Given the description of an element on the screen output the (x, y) to click on. 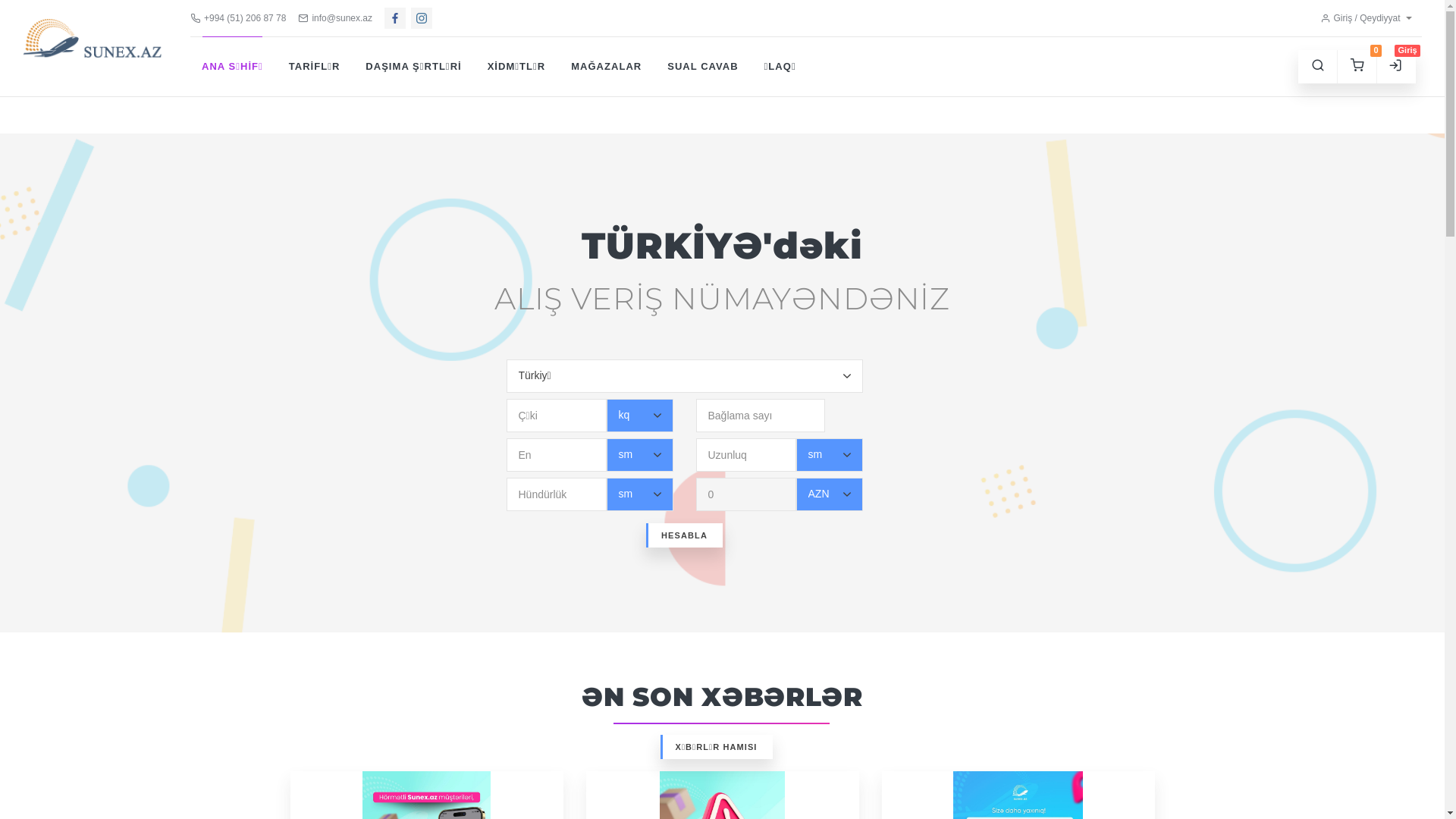
SUAL CAVAB Element type: text (702, 66)
HESABLA Element type: text (684, 535)
info@sunex.az Element type: text (335, 18)
+994 (51) 206 87 78 Element type: text (237, 18)
